Given the description of an element on the screen output the (x, y) to click on. 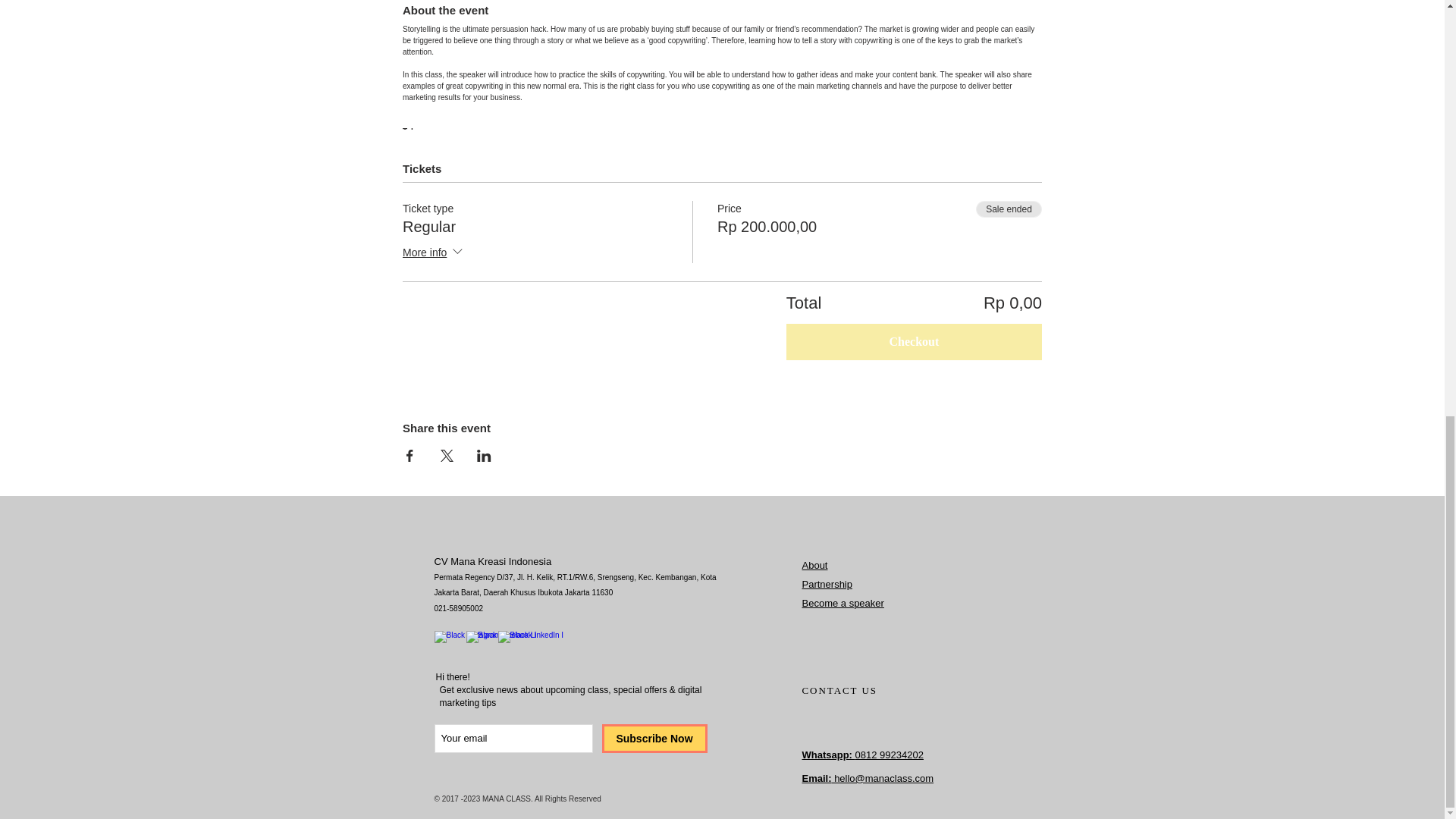
More info (434, 252)
About (815, 564)
Subscribe Now (654, 737)
Whatsapp: 0812 99234202 (862, 754)
Partnership (826, 583)
Become a speaker (842, 603)
Checkout (914, 341)
